Given the description of an element on the screen output the (x, y) to click on. 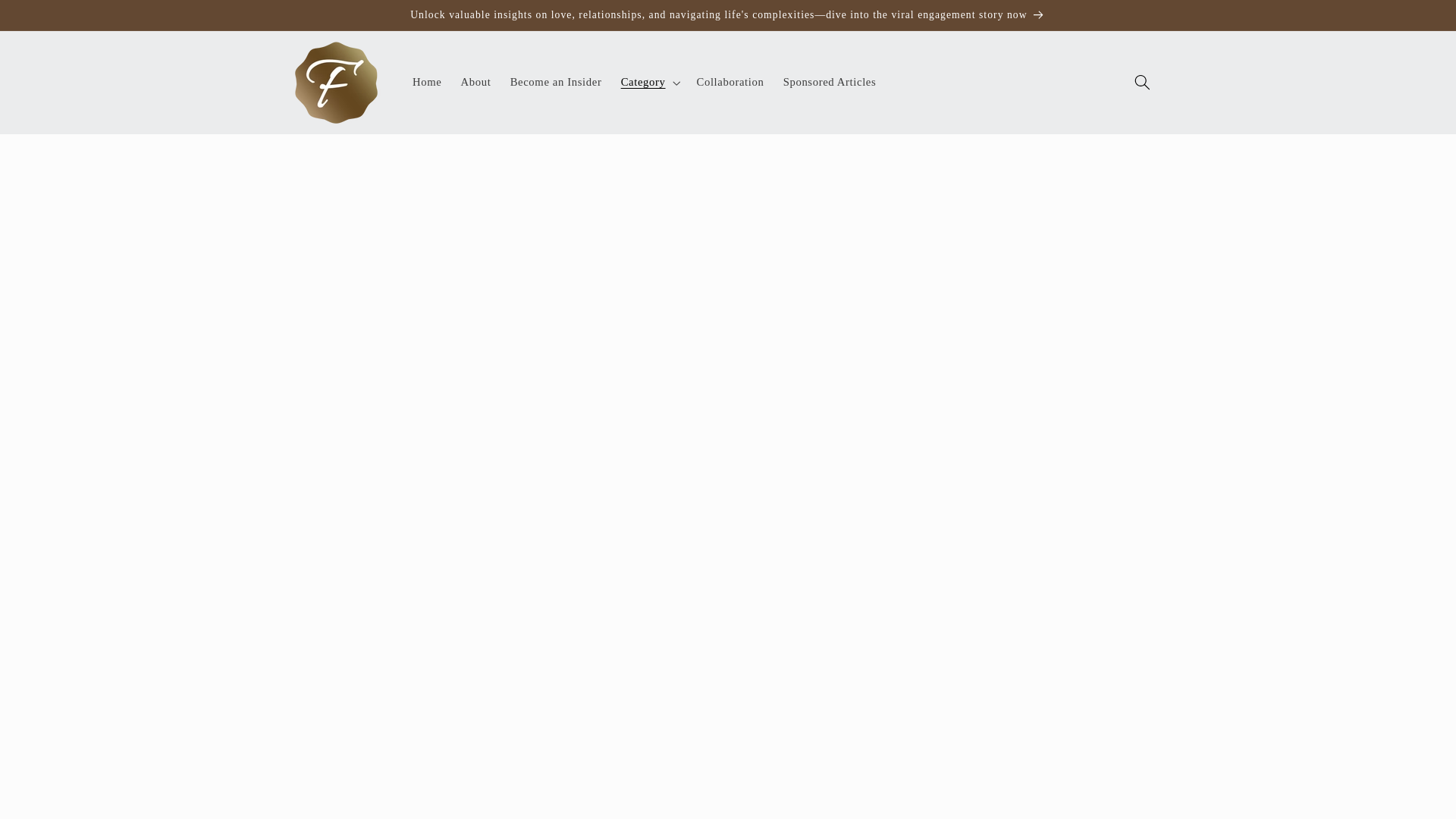
Become an Insider (555, 82)
Home (427, 82)
About (475, 82)
Skip to content (48, 18)
Sponsored Articles (829, 82)
Collaboration (730, 82)
